Given the description of an element on the screen output the (x, y) to click on. 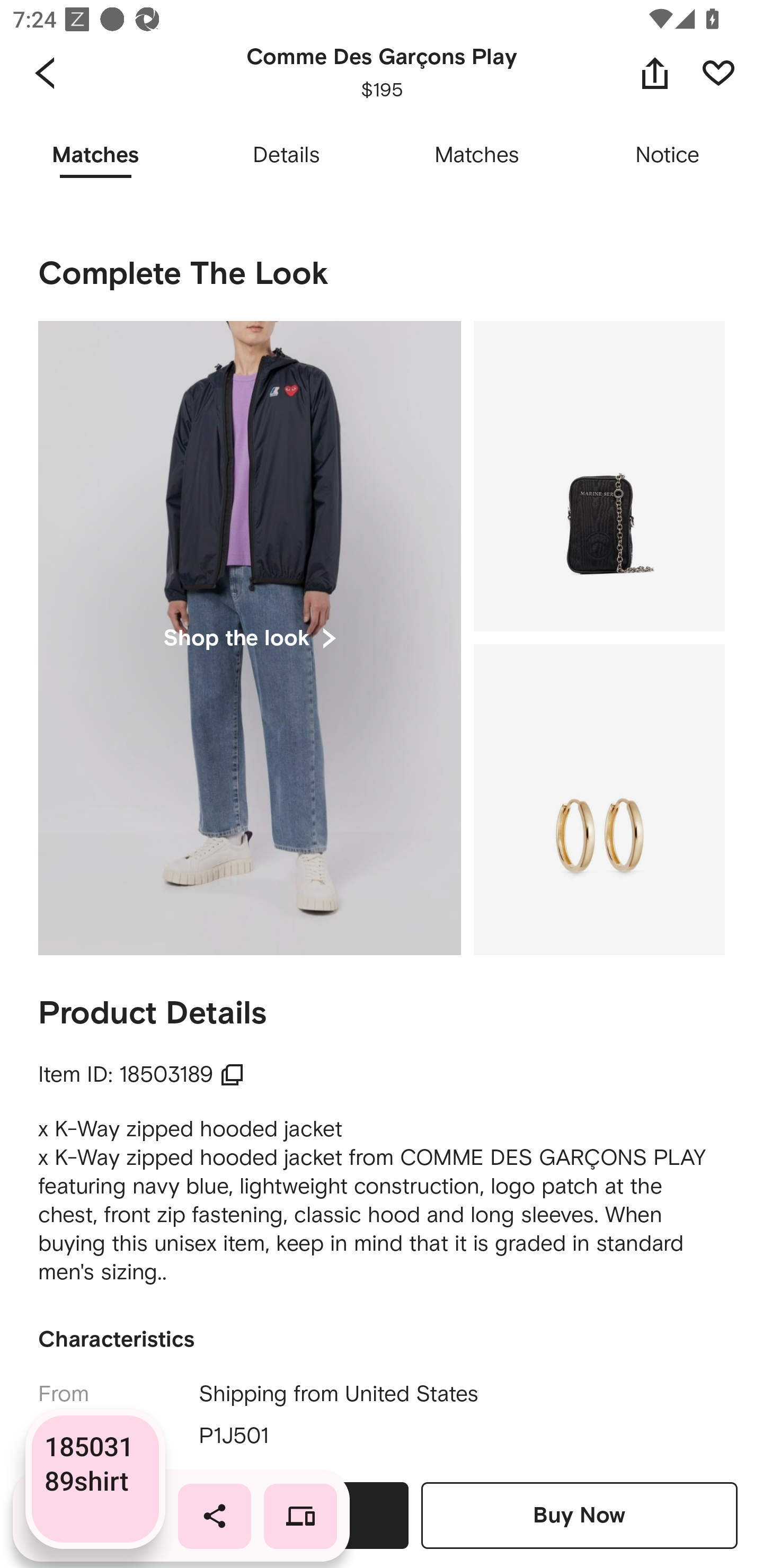
Details (285, 155)
Matches (476, 155)
Notice (667, 155)
Item ID: 18503189 (141, 1074)
Buy Now (579, 1515)
